Given the description of an element on the screen output the (x, y) to click on. 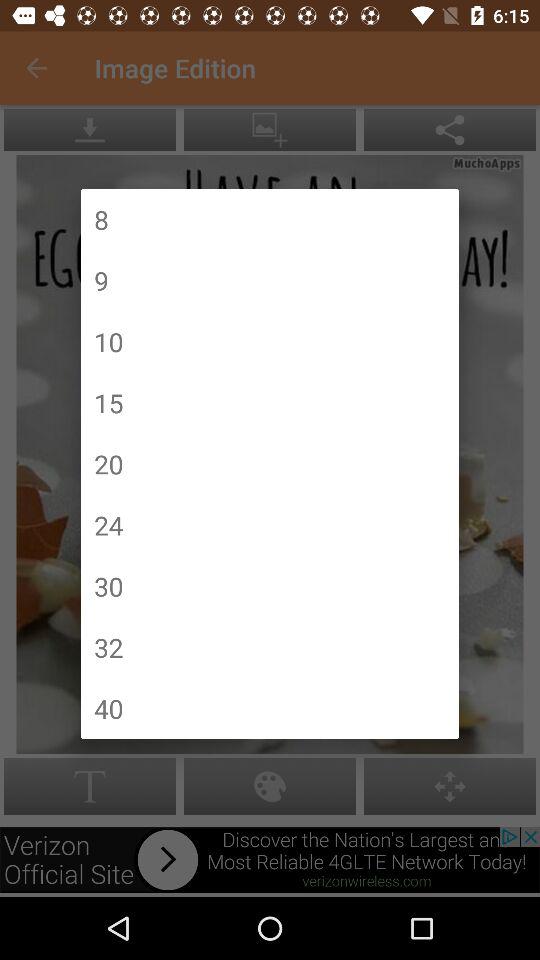
tap 24 item (108, 524)
